Given the description of an element on the screen output the (x, y) to click on. 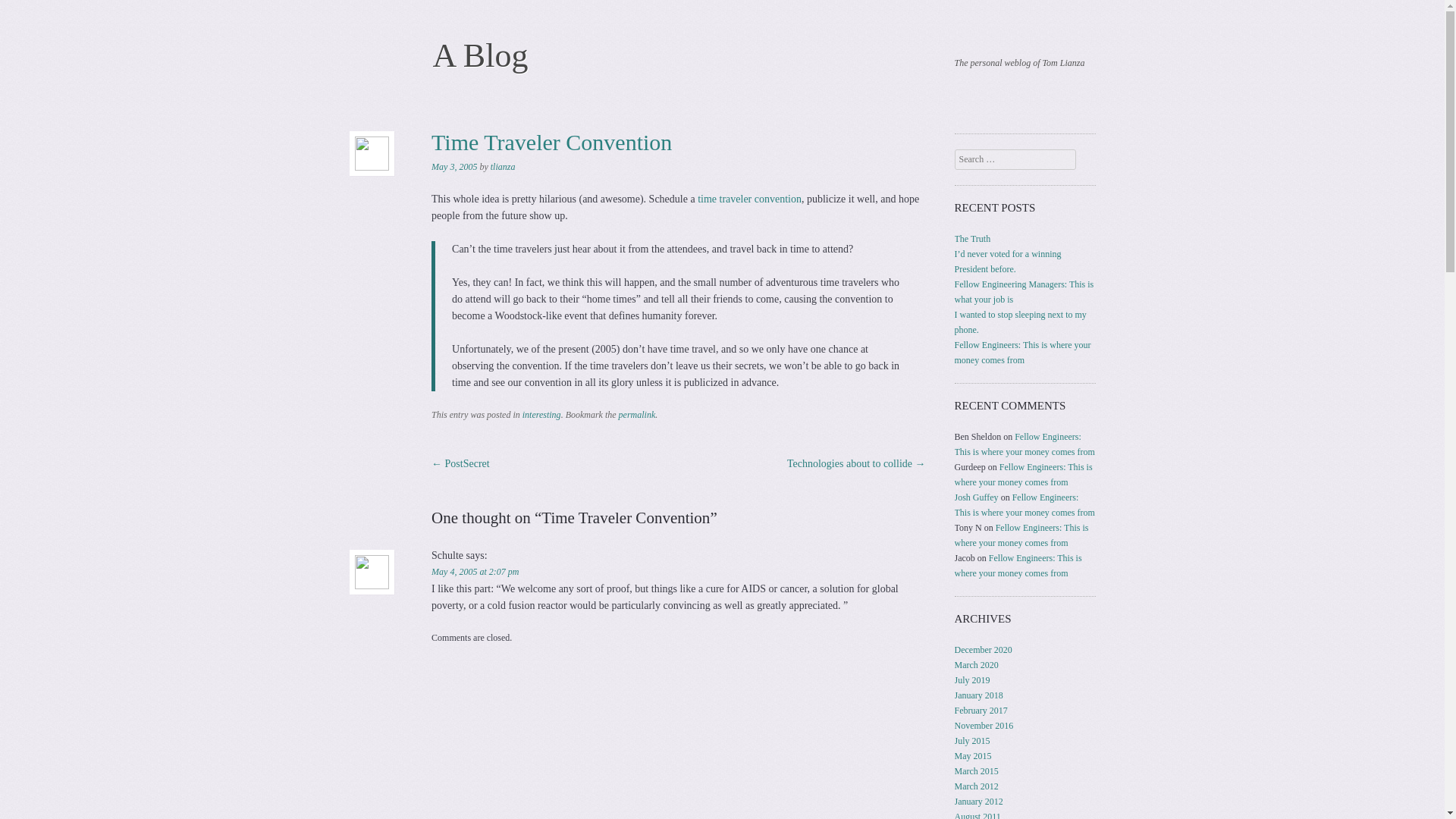
February 2017 (981, 710)
August 2011 (978, 815)
May 3, 2005 (453, 166)
time traveler convention (749, 198)
Fellow Engineers: This is where your money comes from (1022, 534)
interesting (541, 414)
March 2020 (976, 665)
Josh Guffey (976, 497)
View all posts by tlianza (502, 166)
permalink (637, 414)
